Given the description of an element on the screen output the (x, y) to click on. 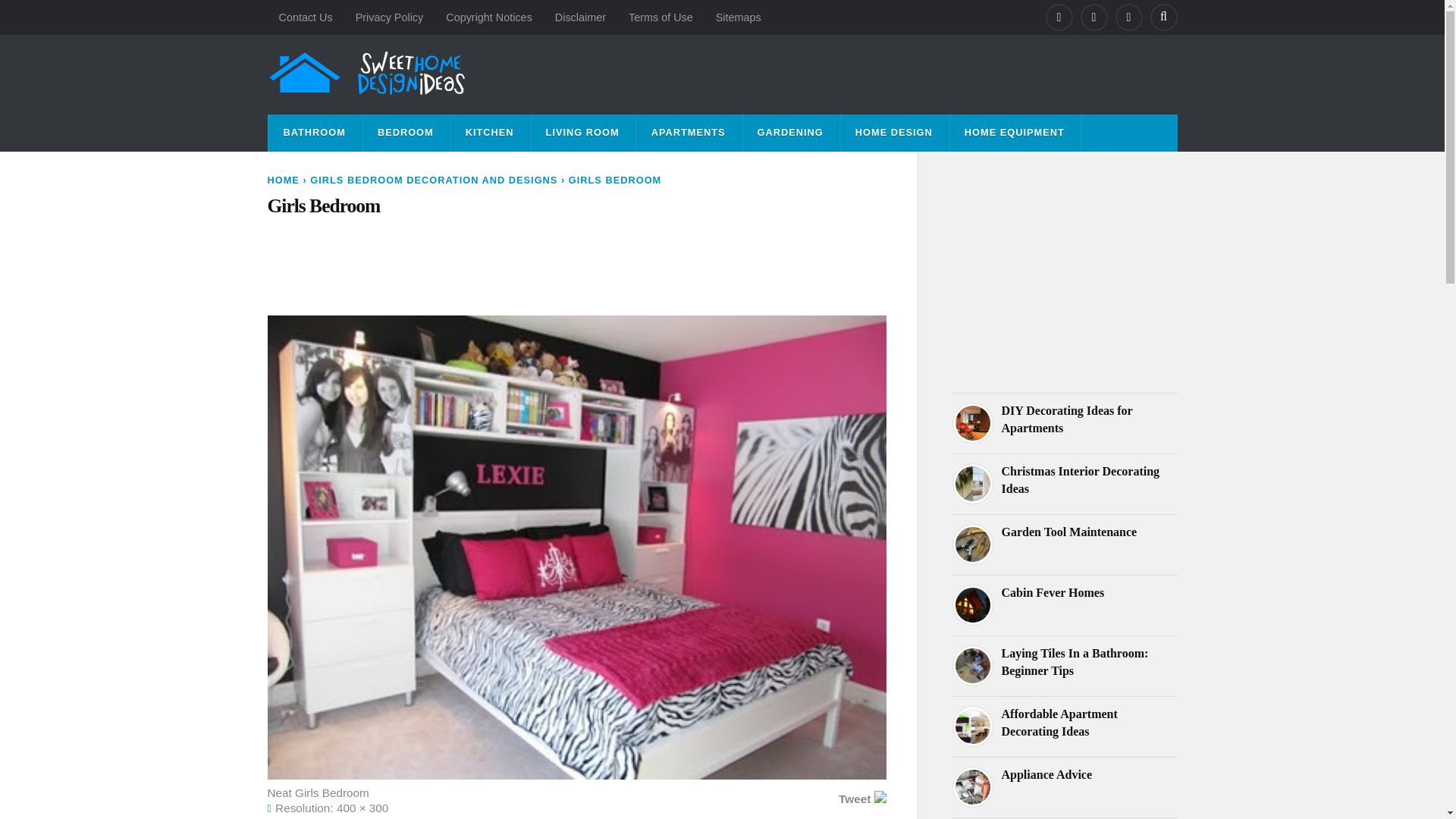
Copyright Notices (488, 17)
Terms of Use (660, 17)
HOME DESIGN (893, 132)
Girls Bedroom (575, 206)
HOME (282, 179)
HOME EQUIPMENT (1014, 132)
GARDENING (790, 132)
BEDROOM (405, 132)
Girls Bedroom (575, 206)
Disclaimer (580, 17)
